Given the description of an element on the screen output the (x, y) to click on. 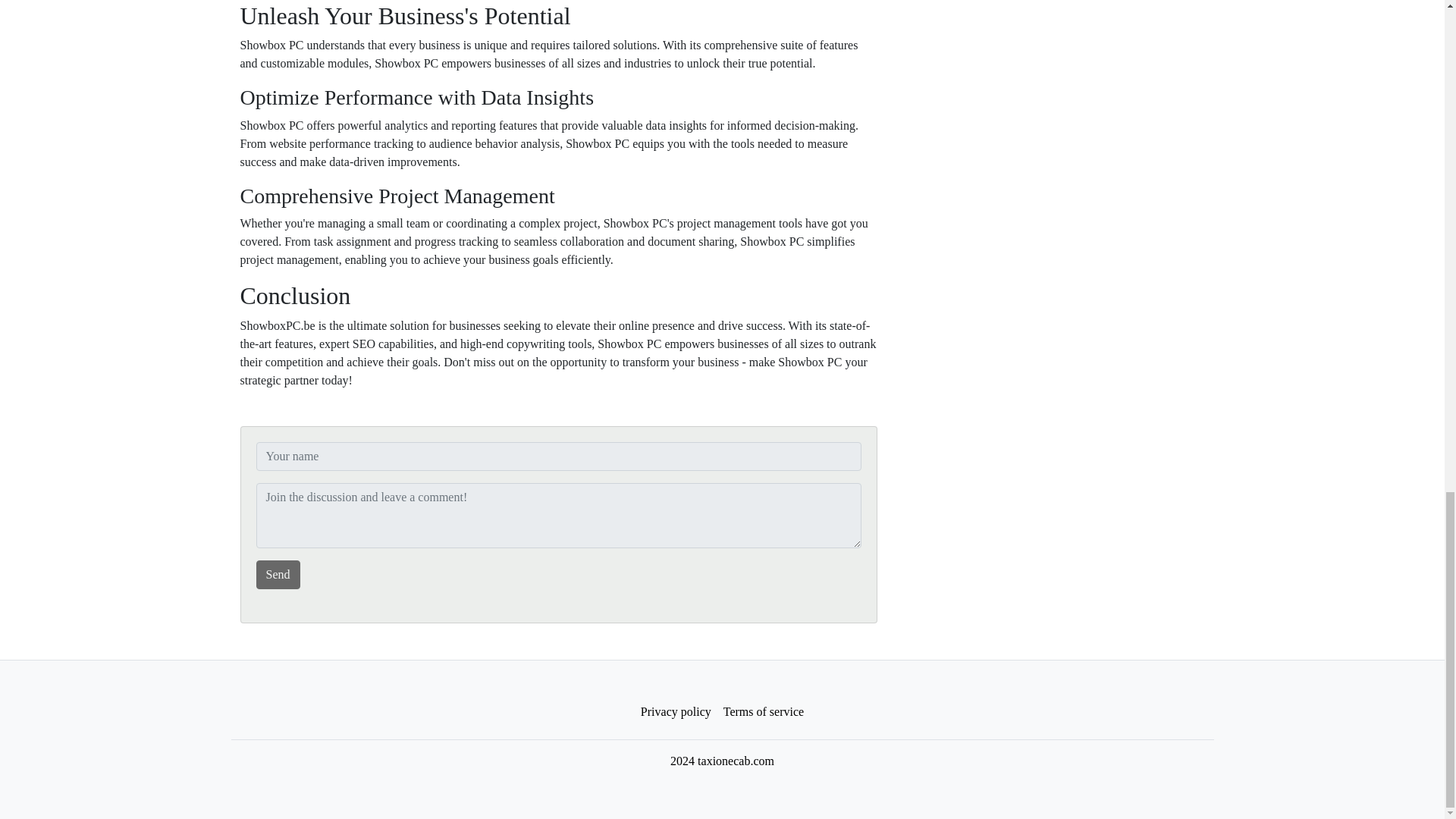
Send (277, 574)
Privacy policy (675, 711)
Send (277, 574)
Terms of service (763, 711)
